Given the description of an element on the screen output the (x, y) to click on. 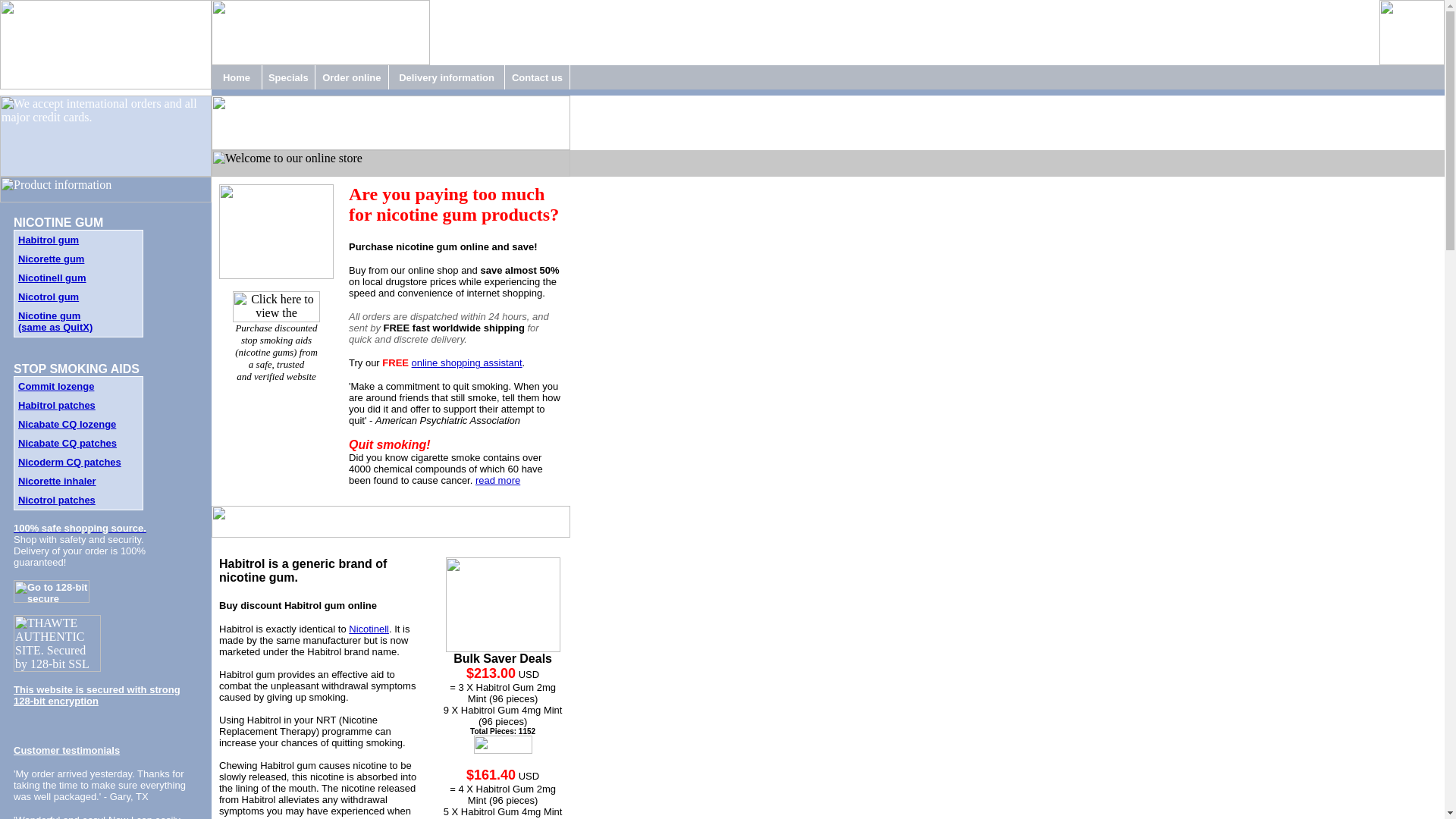
for quick and discrete delivery. (443, 333)
NICOTINE GUM (58, 222)
Nicotrol patches (56, 500)
Purchase nicotine gum online and save! (443, 246)
Home (236, 76)
All orders are dispatched within 24 hours, and sent by (448, 322)
This website is secured with strong 128-bit encryption (96, 694)
Nicoderm CQ patches (68, 461)
Order online (350, 76)
online shopping assistant (467, 362)
FREE fast worldwide shipping (454, 327)
Habitrol patches (56, 405)
Nicotrol gum (47, 296)
Nicorette gum (50, 258)
Nicabate CQ patches (66, 442)
